Given the description of an element on the screen output the (x, y) to click on. 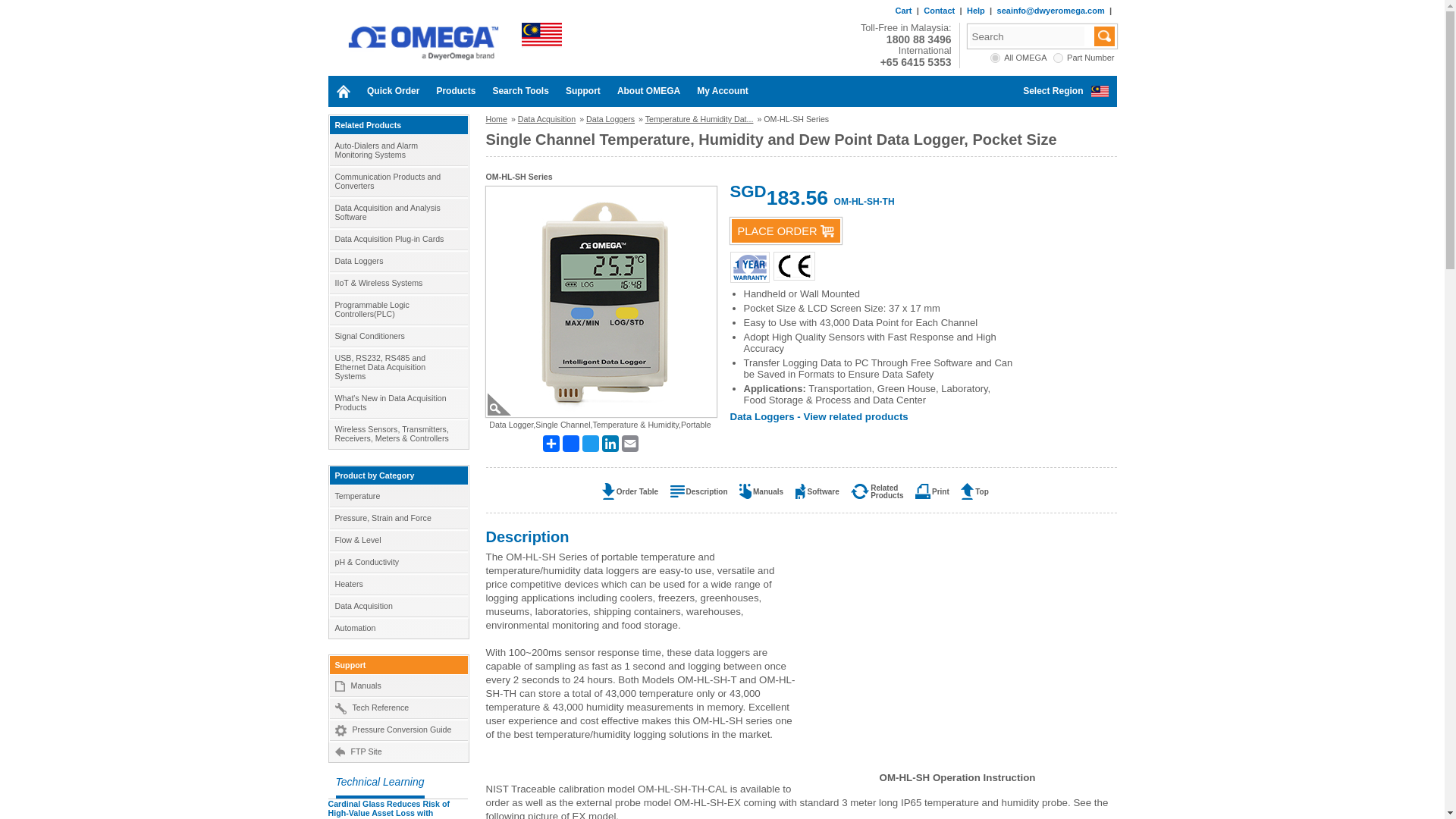
Products (455, 91)
Data Acquisition and Analysis Software (398, 212)
Data Loggers (398, 260)
Data Acquisition Plug-in Cards (398, 238)
allomega (995, 58)
Signal Conditioners (398, 335)
Contact (939, 10)
Auto-Dialers and Alarm Monitoring Systems (398, 150)
Help (975, 10)
Cart (903, 10)
